Given the description of an element on the screen output the (x, y) to click on. 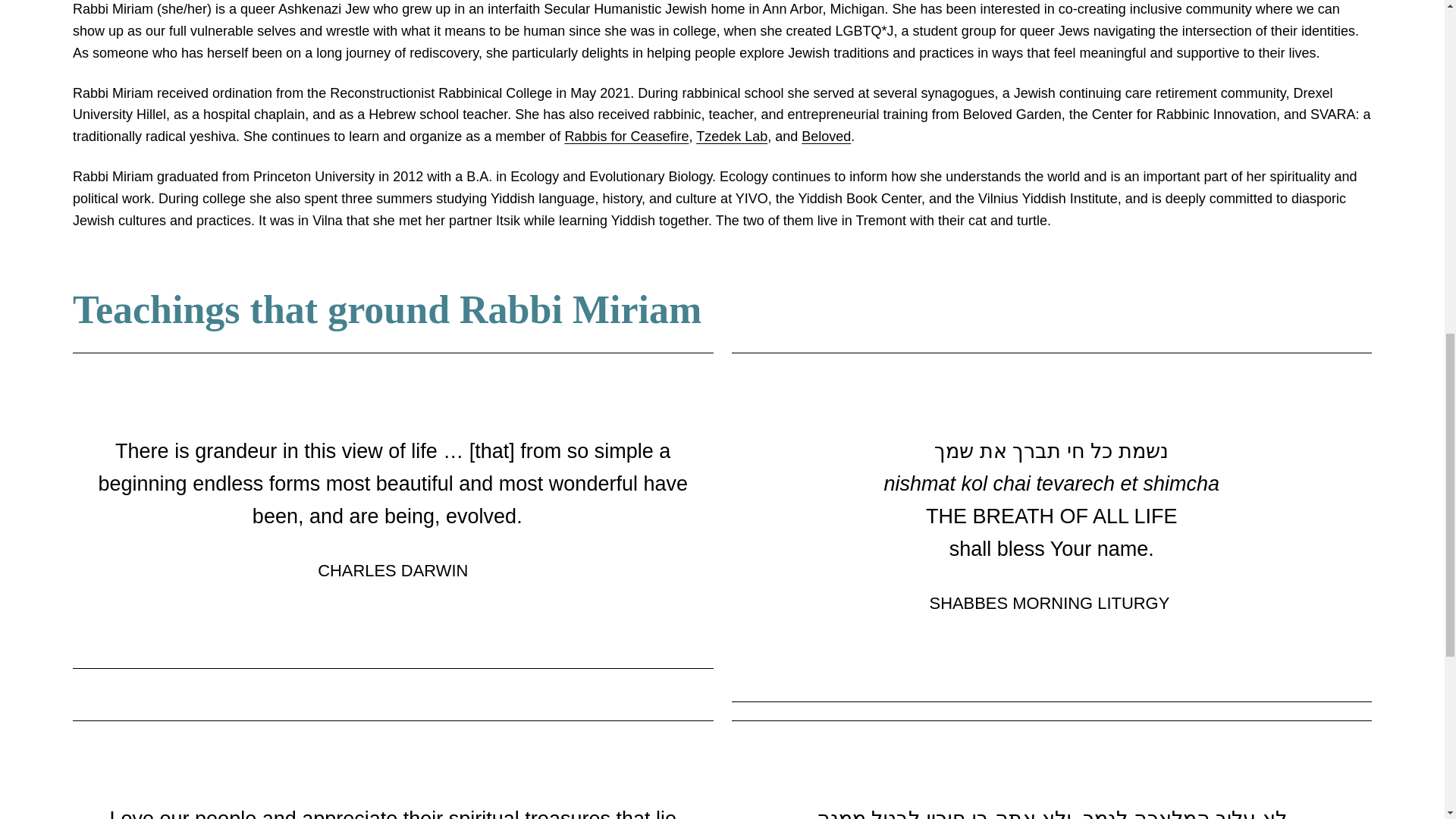
Rabbis for Ceasefire (626, 136)
Beloved (826, 136)
Tzedek Lab (731, 136)
